Given the description of an element on the screen output the (x, y) to click on. 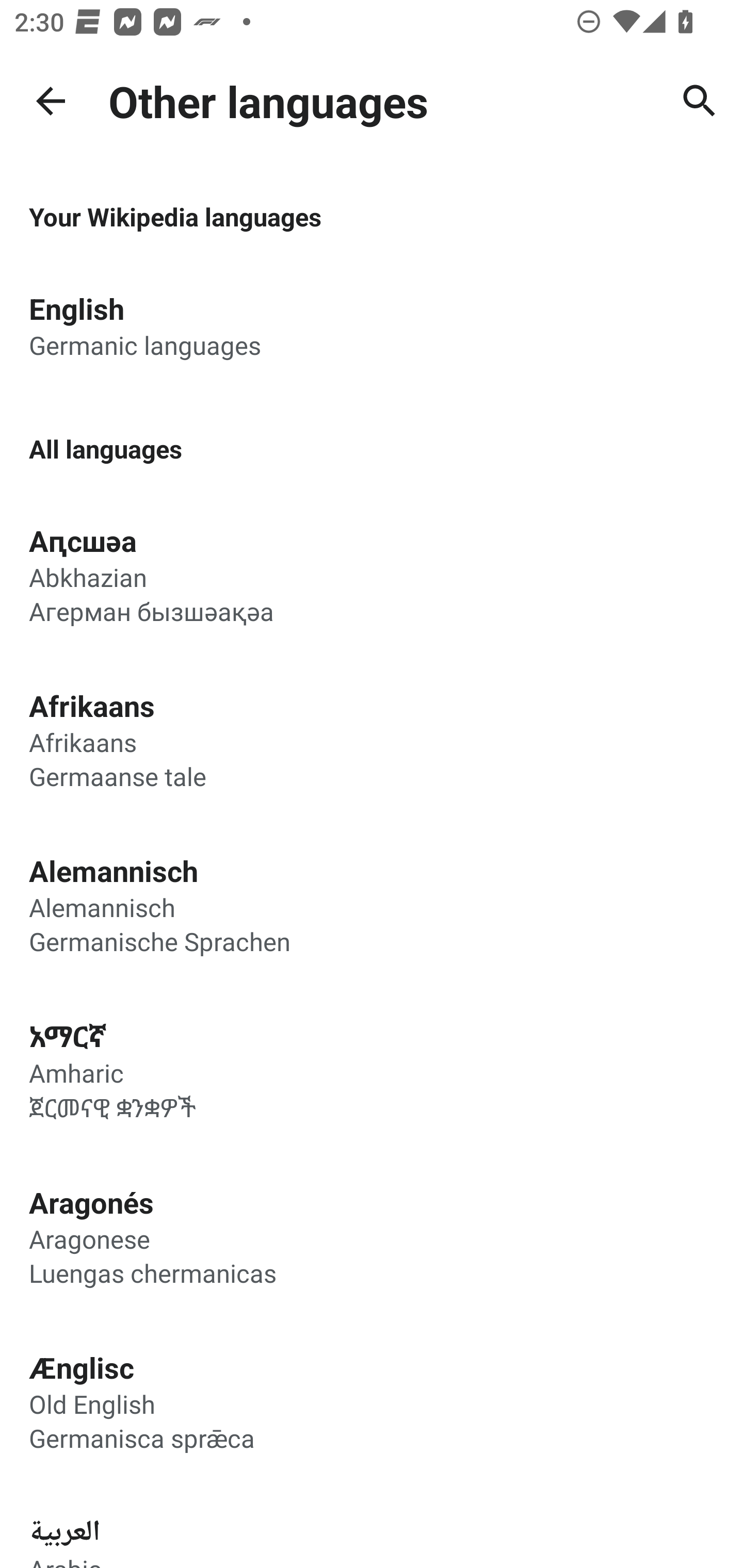
Navigate up (50, 101)
Search for a language (699, 101)
English Germanic languages (371, 325)
Аԥсшәа Abkhazian Агерман бызшәақәа (371, 574)
Afrikaans Afrikaans Germaanse tale (371, 738)
Alemannisch Alemannisch Germanische Sprachen (371, 904)
አማርኛ Amharic ጀርመናዊ ቋንቋዎች (371, 1070)
Aragonés Aragonese Luengas chermanicas (371, 1236)
Ænglisc Old English Germanisca sprǣca (371, 1400)
